Given the description of an element on the screen output the (x, y) to click on. 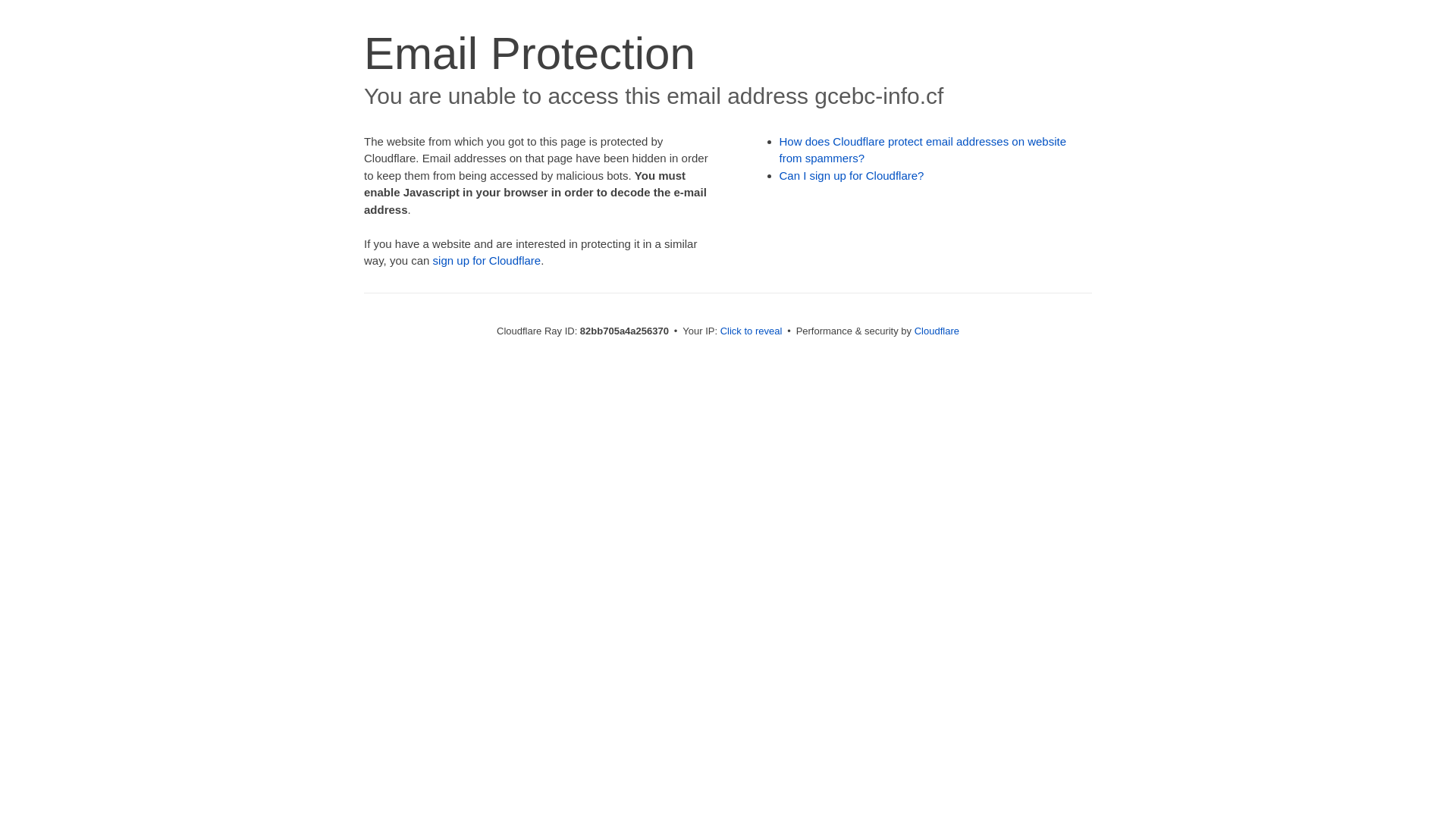
Cloudflare Element type: text (936, 330)
Can I sign up for Cloudflare? Element type: text (851, 175)
sign up for Cloudflare Element type: text (487, 260)
Click to reveal Element type: text (751, 330)
